Given the description of an element on the screen output the (x, y) to click on. 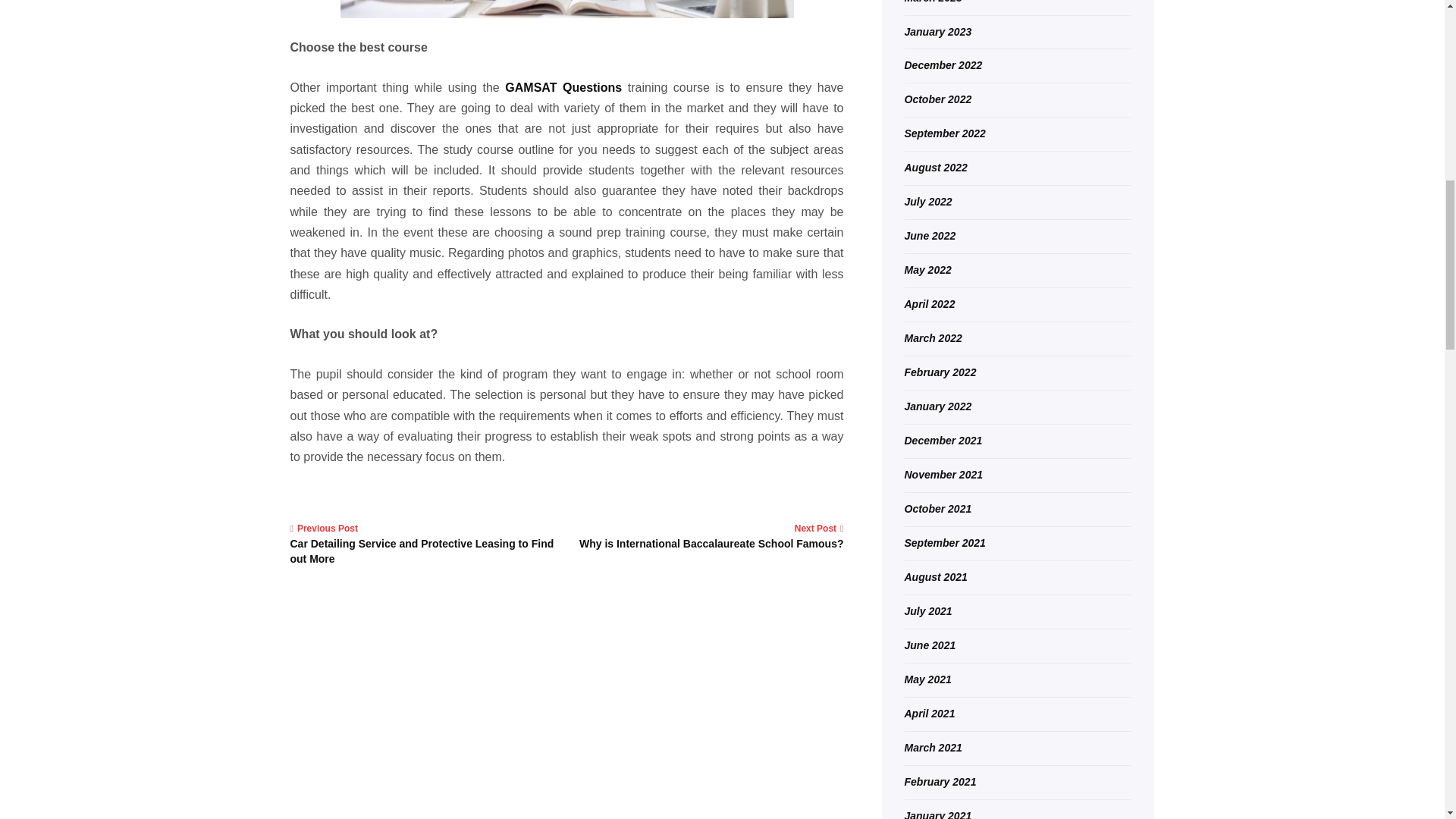
November 2021 (943, 474)
July 2022 (928, 201)
March 2022 (932, 337)
September 2021 (944, 542)
February 2021 (939, 781)
July 2021 (928, 611)
June 2021 (929, 645)
April 2022 (929, 304)
March 2023 (932, 2)
GAMSAT Questions (710, 534)
April 2021 (563, 87)
March 2021 (929, 713)
September 2022 (932, 747)
August 2021 (944, 133)
